Given the description of an element on the screen output the (x, y) to click on. 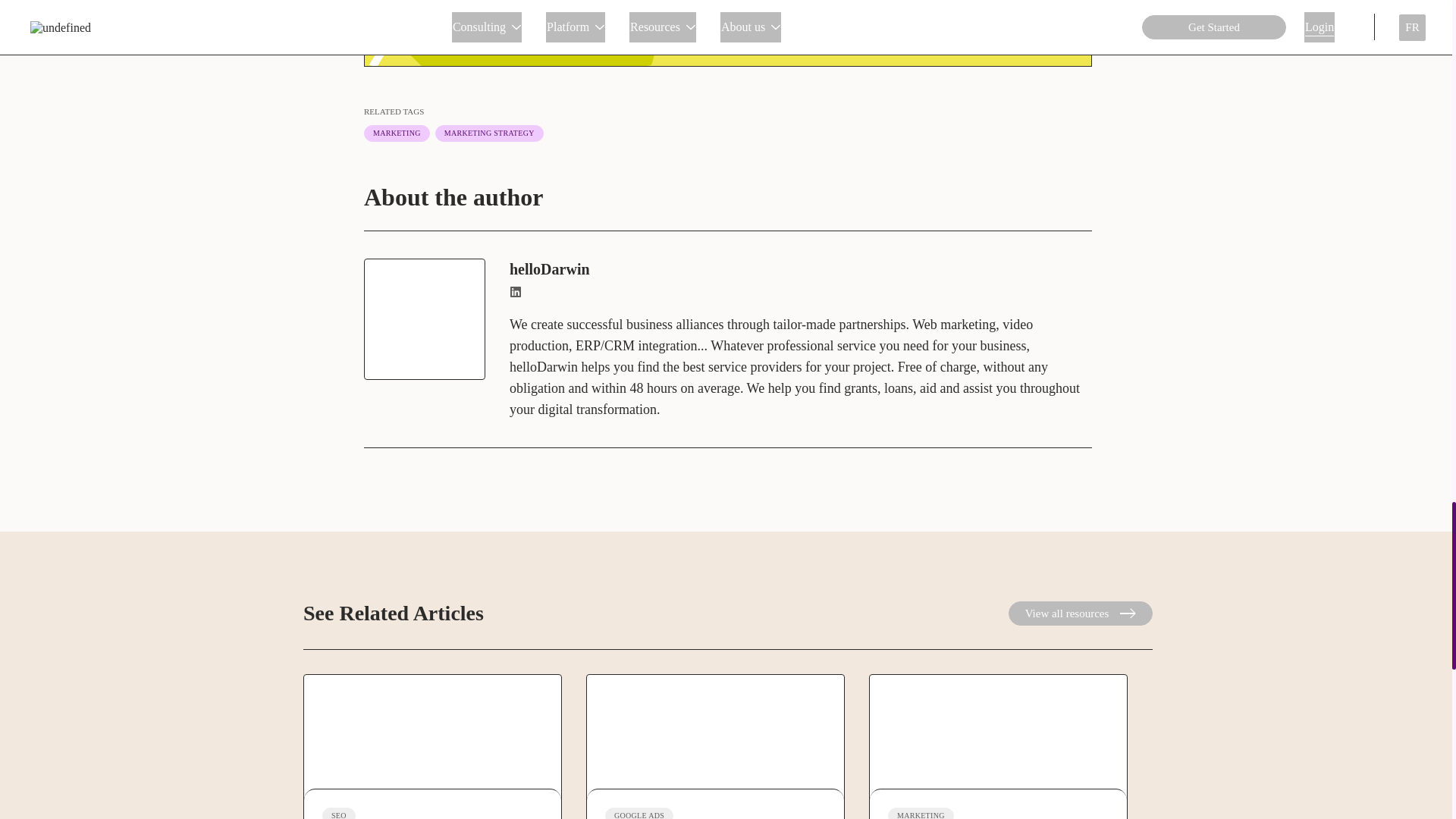
View all resources (1081, 613)
